Given the description of an element on the screen output the (x, y) to click on. 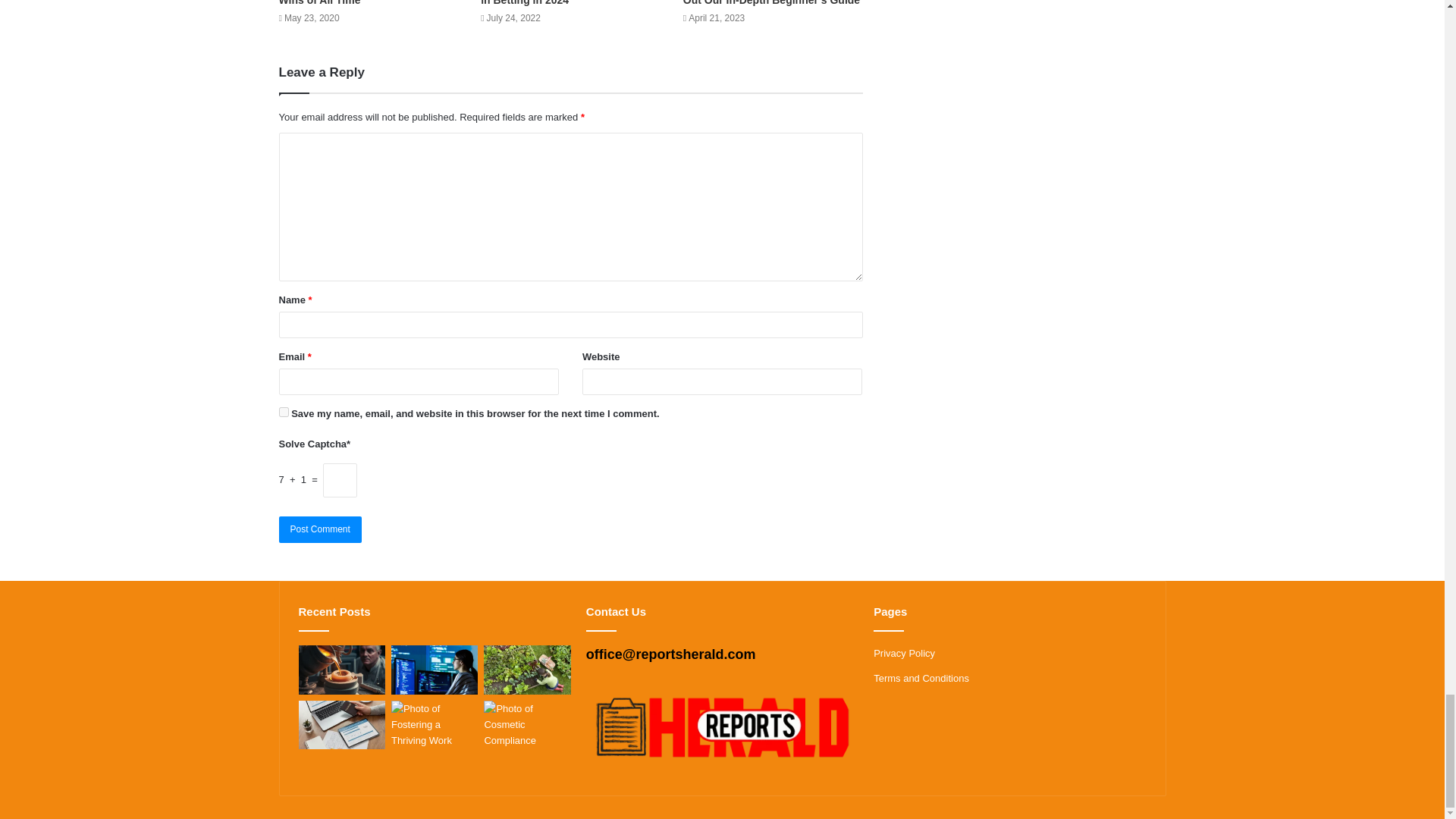
7 Biggest Horse Racing Betting Wins of All Time (358, 2)
Post Comment (320, 529)
5 Interesting Things you should try in Betting in 2024 (569, 2)
yes (283, 411)
